Given the description of an element on the screen output the (x, y) to click on. 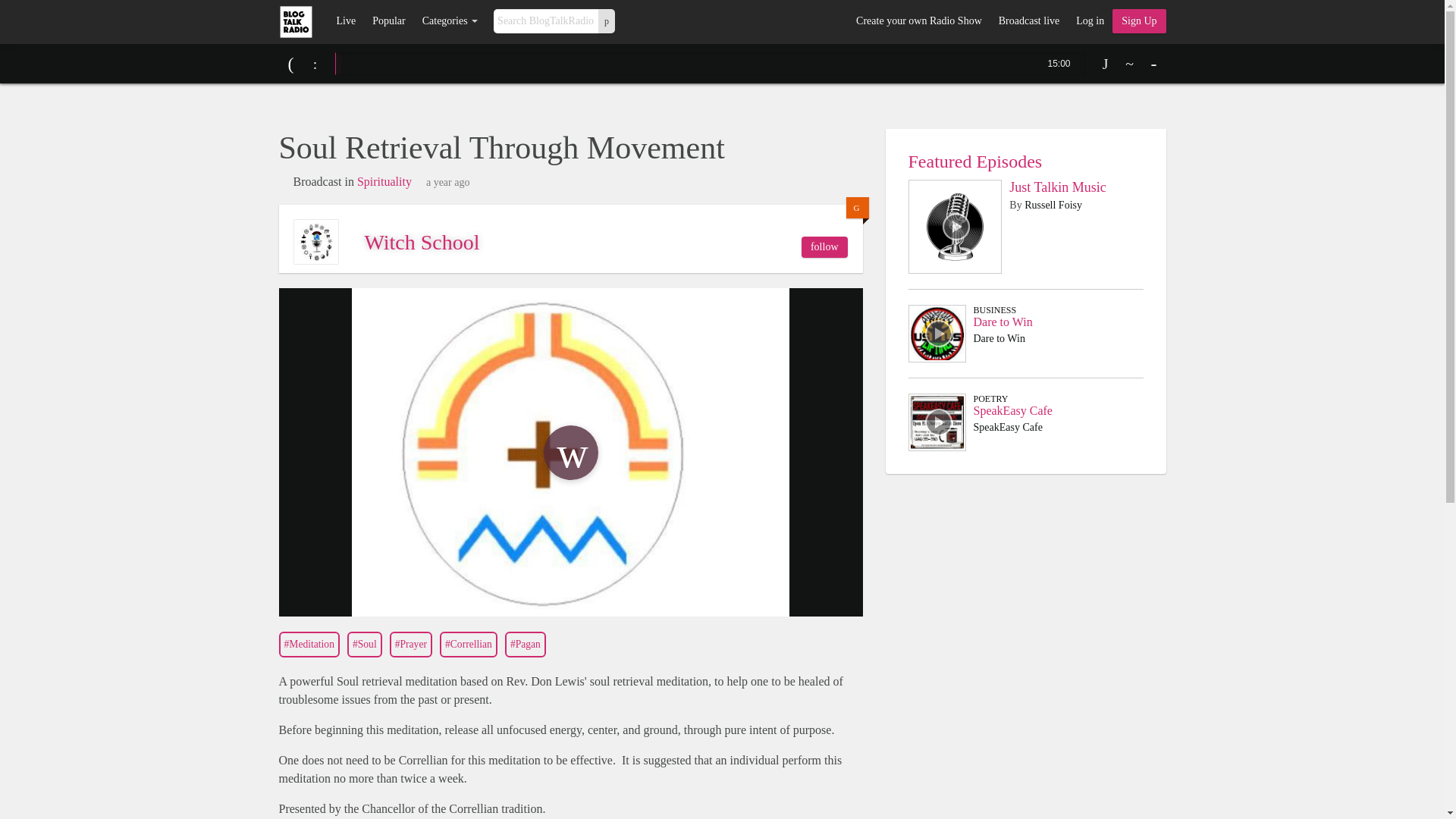
Embed this episode (1129, 63)
Thu, May 11, 2023 01:00 am (448, 182)
Sign Up (1139, 21)
Broadcast live (1028, 20)
Create My Talk Show (1139, 21)
Create your own Radio Show (918, 20)
Categories (449, 20)
Follow Witch School (824, 246)
Download this episode (1105, 63)
Log in (1089, 20)
Live (345, 20)
Popular (388, 20)
